Given the description of an element on the screen output the (x, y) to click on. 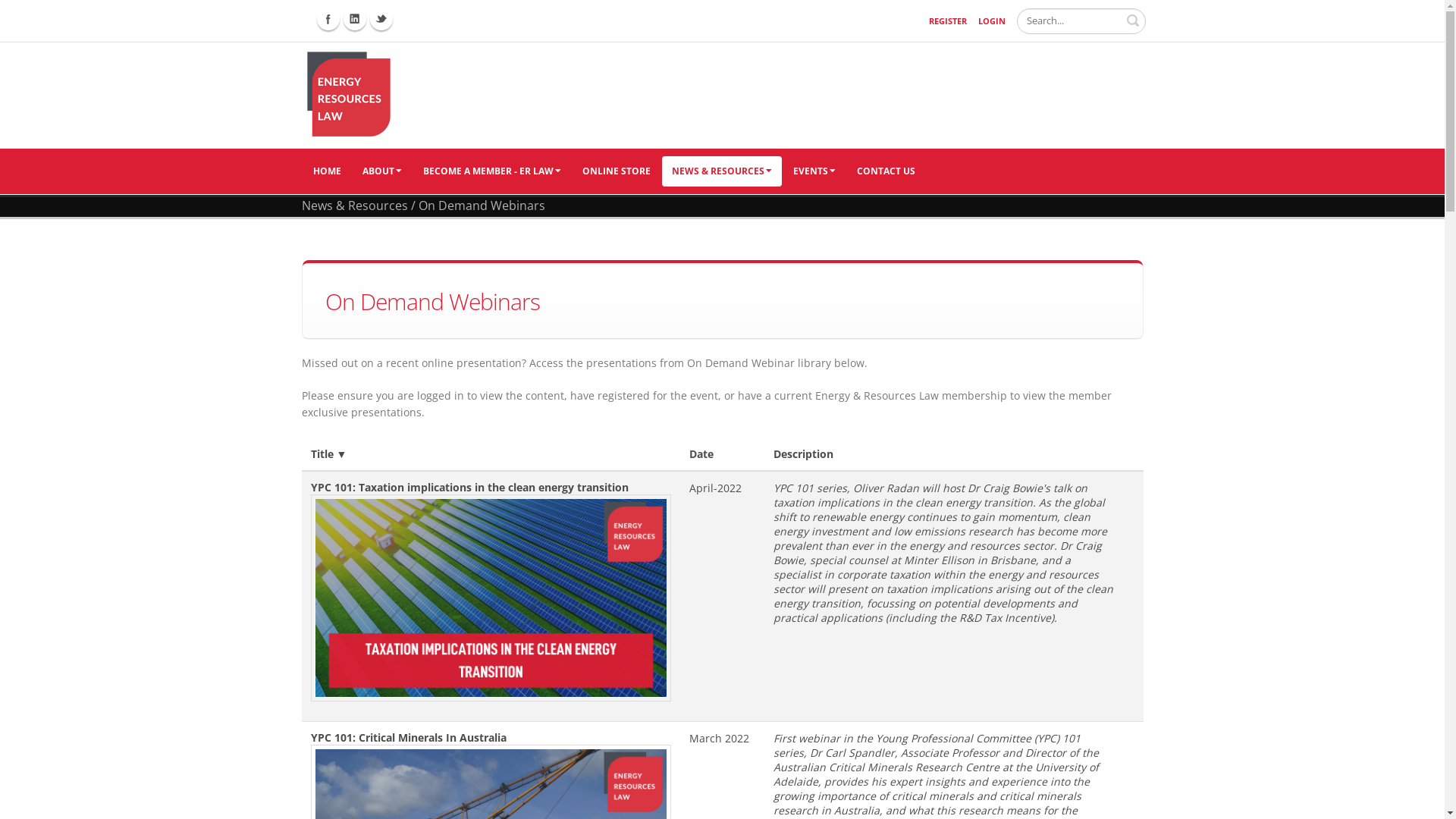
Description Element type: text (803, 453)
Title Element type: text (328, 453)
Energy & Resources Law Association Element type: hover (346, 94)
Date Element type: text (701, 453)
Search Element type: text (1132, 19)
ABOUT Element type: text (381, 171)
EVENTS Element type: text (813, 171)
NEWS & RESOURCES Element type: text (721, 171)
REGISTER Element type: text (947, 19)
Clear search text Element type: hover (1131, 19)
LOGIN Element type: text (991, 20)
BECOME A MEMBER - ER LAW Element type: text (491, 171)
Linkedin Icon Element type: text (353, 18)
ONLINE STORE Element type: text (615, 171)
YPC 101: Critical Minerals In Australia Element type: text (408, 737)
HOME Element type: text (327, 171)
Twitter Icon Element type: text (381, 18)
CONTACT US Element type: text (885, 171)
On Demand Webinars Element type: text (481, 205)
Facebook Icon Element type: text (327, 18)
